Given the description of an element on the screen output the (x, y) to click on. 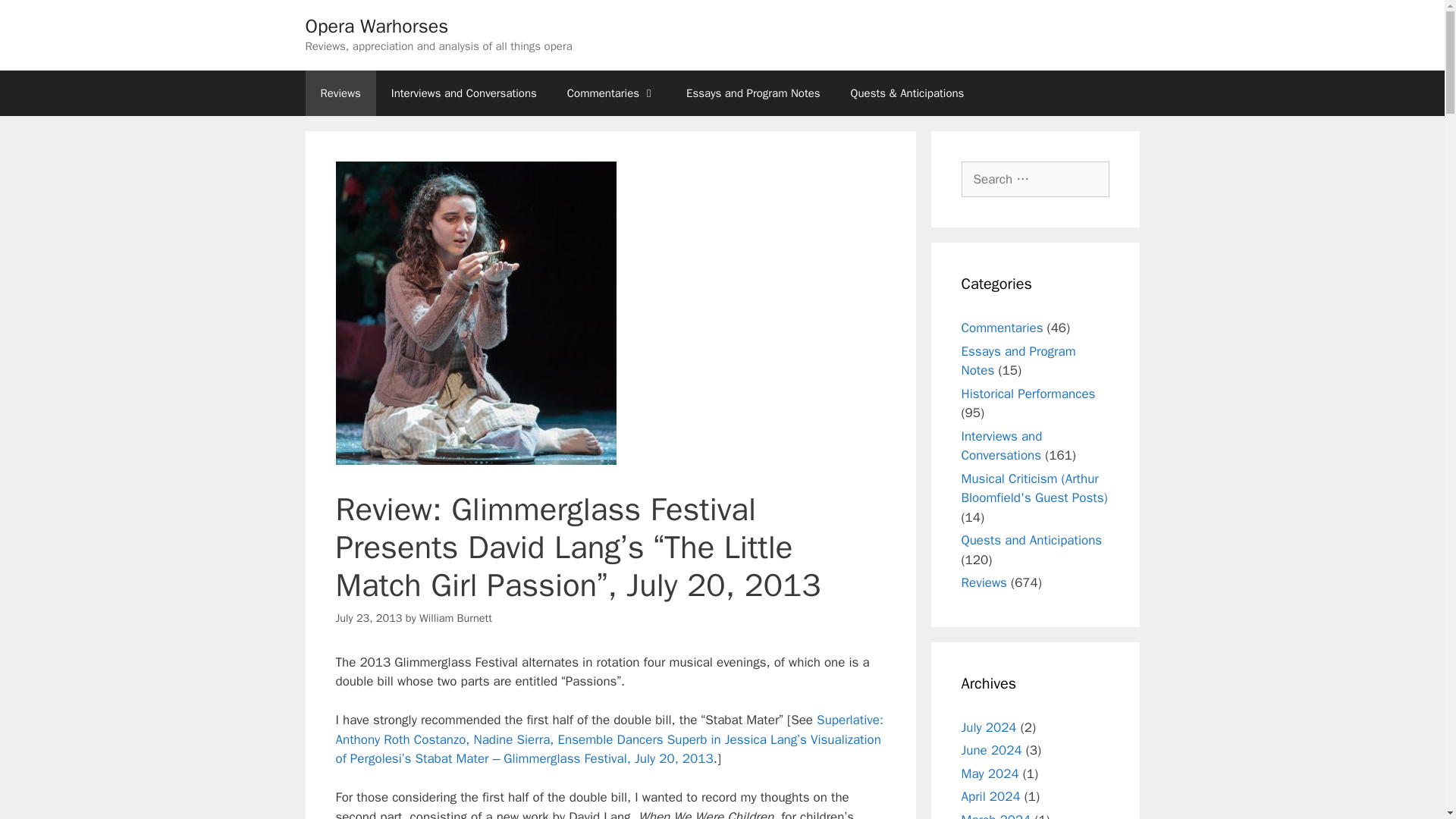
July 2024 (988, 726)
Quests and Anticipations (1031, 539)
Historical Performances (1028, 392)
Search (35, 18)
Reviews (983, 582)
View all posts by William Burnett (455, 617)
Essays and Program Notes (752, 92)
June 2024 (991, 750)
Interviews and Conversations (1001, 445)
March 2024 (995, 815)
May 2024 (989, 773)
Search for: (1034, 178)
April 2024 (990, 796)
Interviews and Conversations (463, 92)
Commentaries (1001, 327)
